Given the description of an element on the screen output the (x, y) to click on. 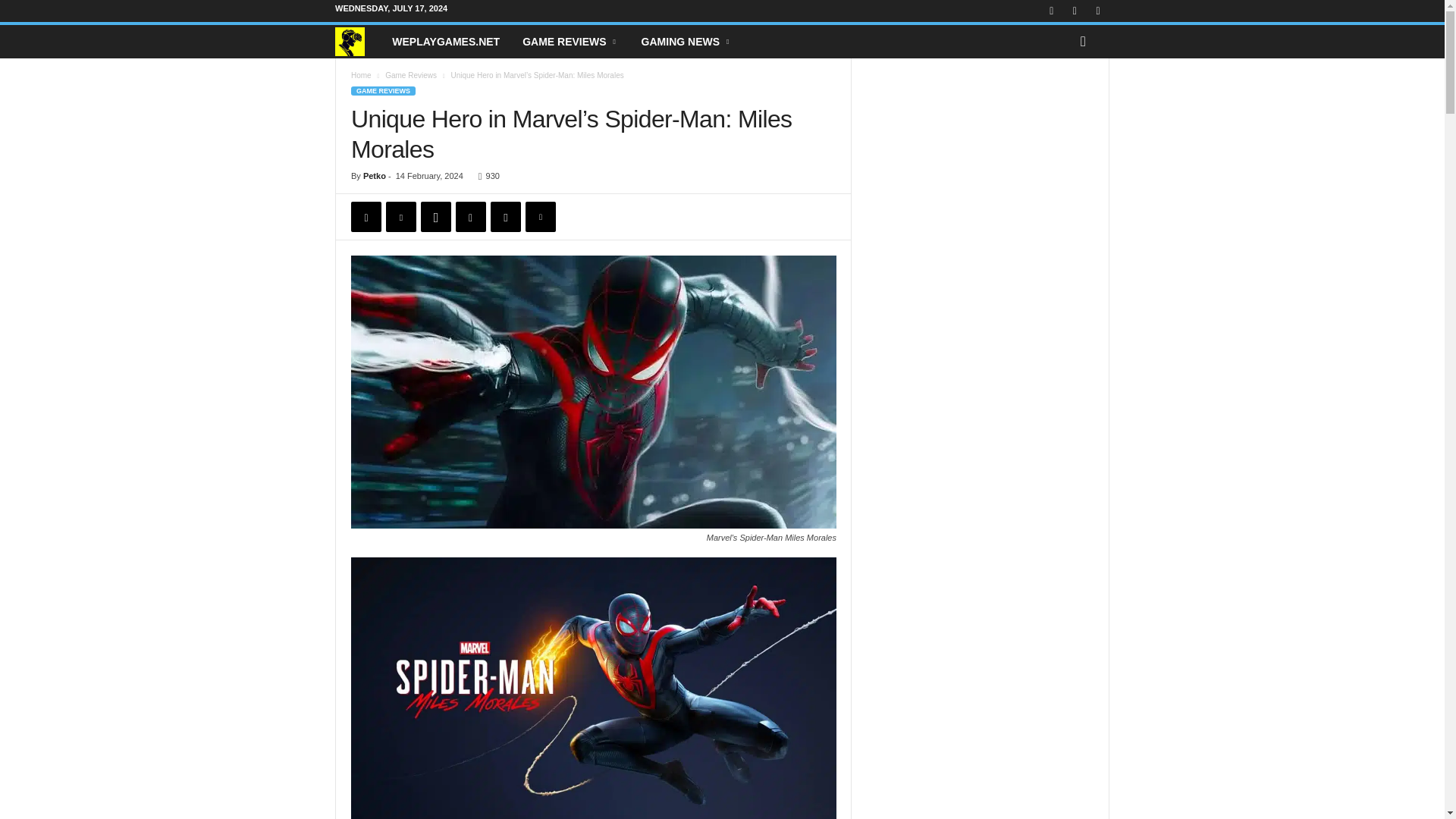
GAMING NEWS (686, 41)
WePlayGames.net: Home for Top Gamers (357, 41)
WEPLAYGAMES.NET (445, 41)
GAME REVIEWS (569, 41)
WePlayGames.net (445, 41)
WePlayGames: Game Reviews (569, 41)
